Given the description of an element on the screen output the (x, y) to click on. 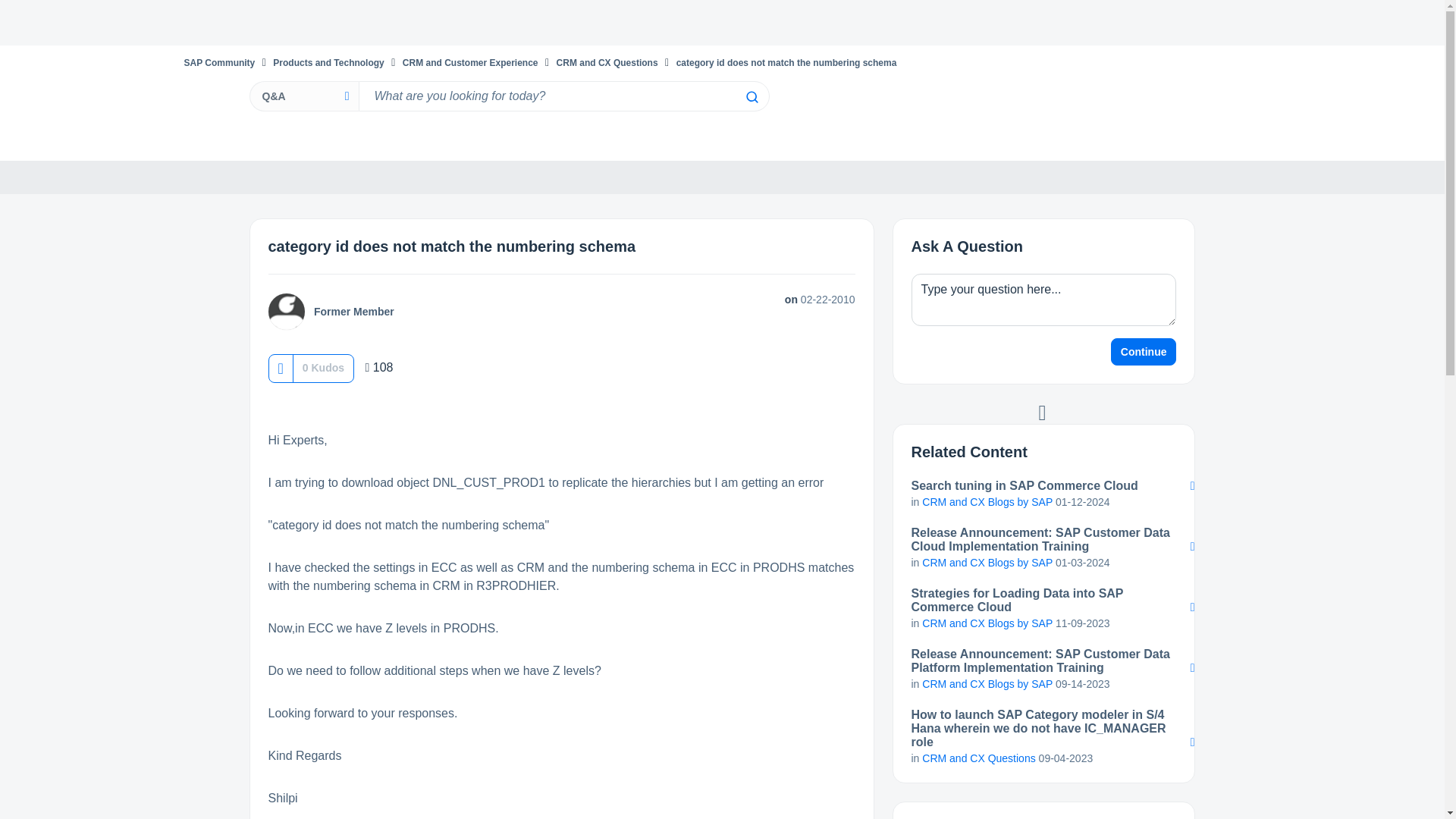
Click here to give kudos to this post. (279, 367)
Search (750, 96)
Search (563, 96)
Continue (1143, 351)
Products and Technology (328, 62)
CRM and CX Questions (607, 62)
CRM and Customer Experience (470, 62)
Search Granularity (303, 96)
SAP Community (218, 62)
The total number of kudos this post has received. (323, 367)
